Given the description of an element on the screen output the (x, y) to click on. 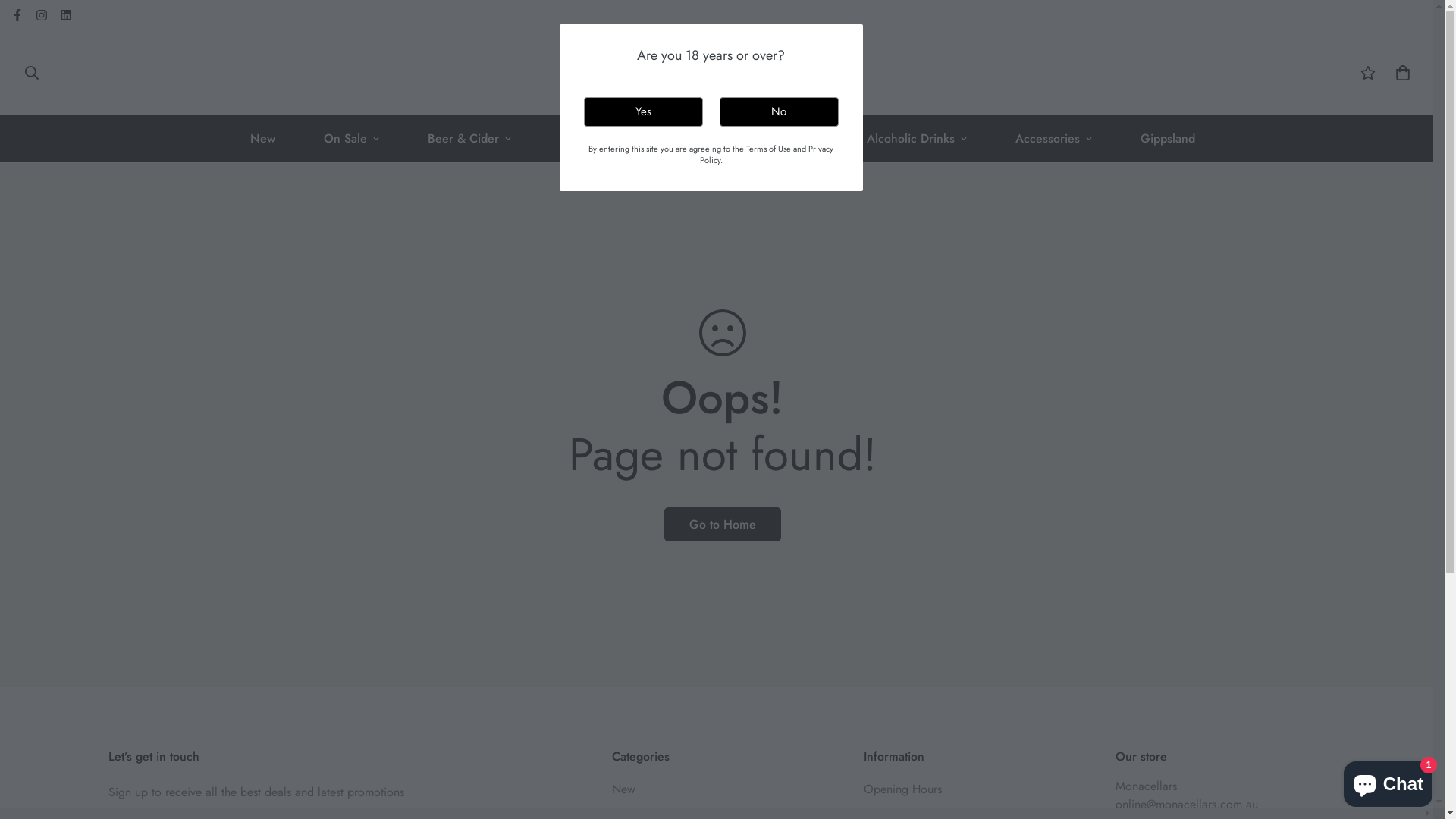
Opening Hours Element type: text (901, 789)
Premix Element type: text (765, 138)
monacellars Element type: hover (722, 72)
Monacellars Element type: text (1145, 785)
Beer & Cider Element type: text (469, 138)
Shopify online store chat Element type: hover (1388, 780)
New Element type: text (262, 138)
On Sale Element type: text (350, 138)
Non Alcoholic Drinks Element type: text (902, 138)
online@monacellars.com.au Element type: text (1185, 803)
Accessories Element type: text (1052, 138)
Wine Element type: text (579, 138)
No Element type: text (777, 111)
Spirits Element type: text (671, 138)
Gippsland Element type: text (1167, 138)
New Element type: text (622, 789)
Yes Element type: text (642, 111)
Go to Home Element type: text (722, 524)
